Given the description of an element on the screen output the (x, y) to click on. 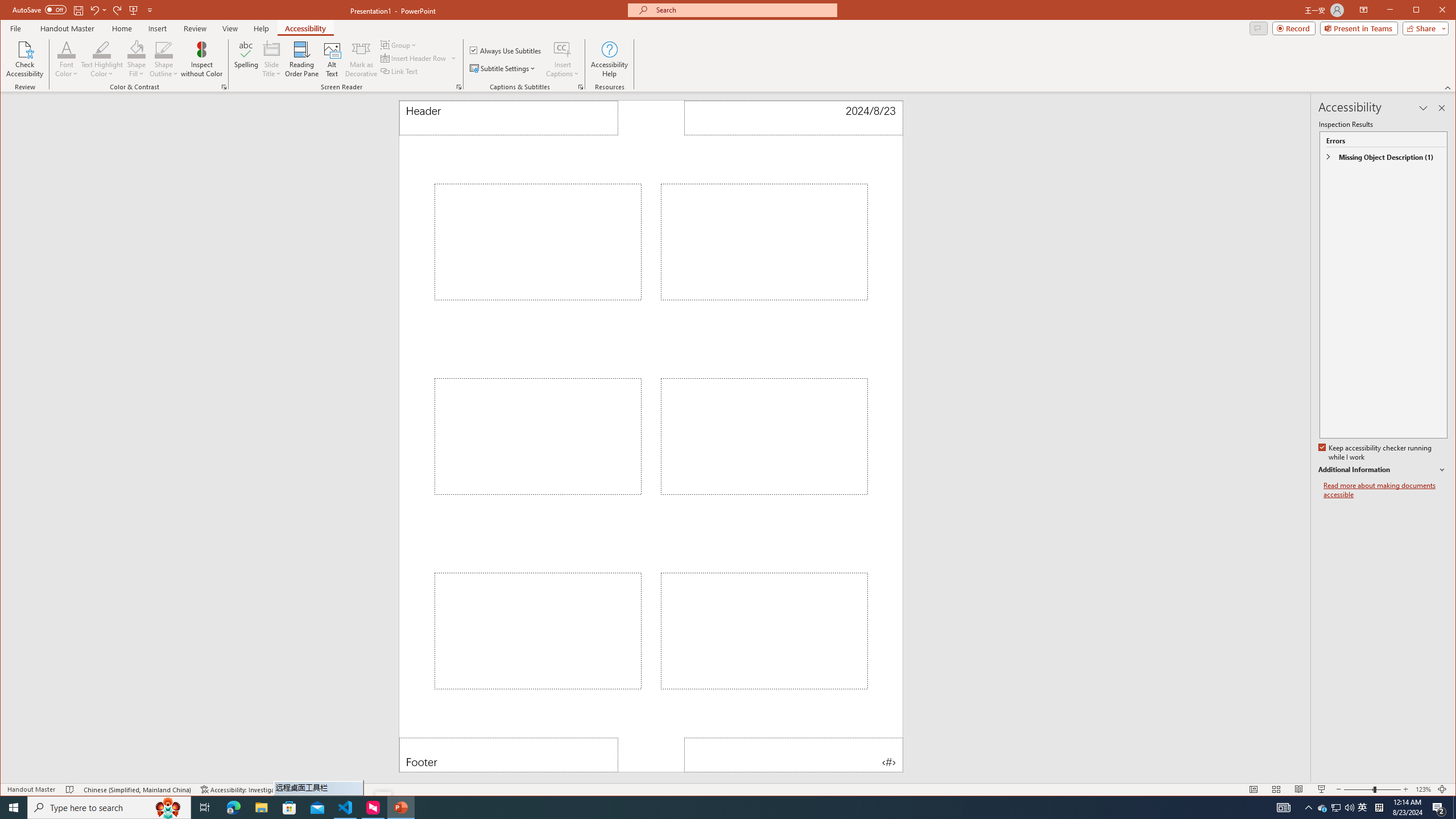
Reading Order Pane (301, 59)
Microsoft Edge (233, 807)
Type here to search (108, 807)
Read more about making documents accessible (1385, 489)
Date (793, 117)
File Explorer (261, 807)
Visual Studio Code - 1 running window (345, 807)
Page Number (793, 754)
Microsoft Store (289, 807)
Mark as Decorative (360, 59)
